Given the description of an element on the screen output the (x, y) to click on. 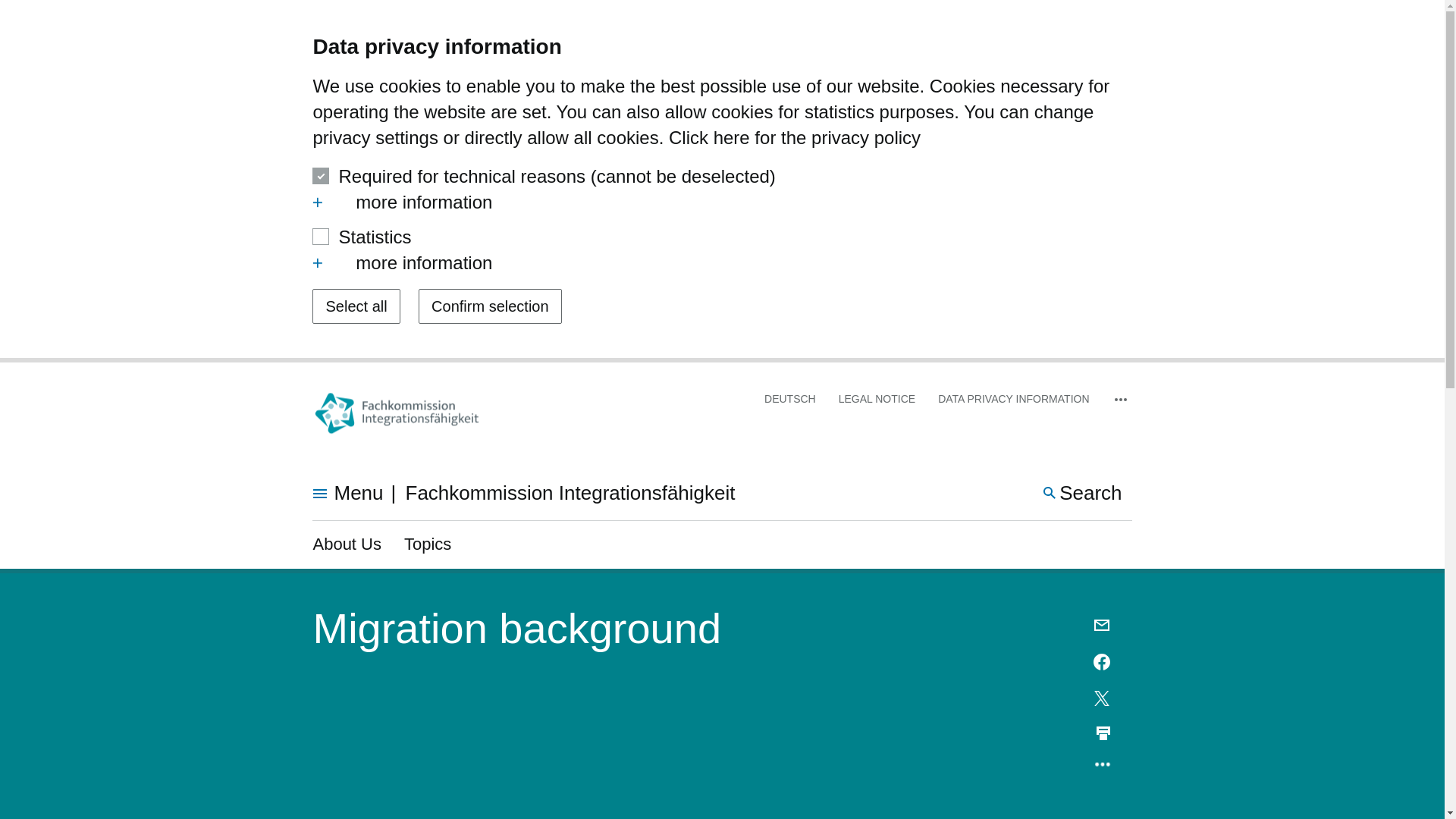
open (318, 202)
LEGAL NOTICE (876, 398)
To the start page (397, 412)
E-MAIL, MIGRATION BACKGROUND (1103, 625)
Select all (355, 306)
About Us (347, 543)
Topics (427, 543)
Confirm selection (490, 306)
DEUTSCH (789, 398)
Search (1083, 493)
DATA PRIVACY INFORMATION (1013, 398)
Facebook, Migration background (1103, 661)
Twitter, Migration background (1103, 698)
E-mail, Migration background (1103, 625)
